Given the description of an element on the screen output the (x, y) to click on. 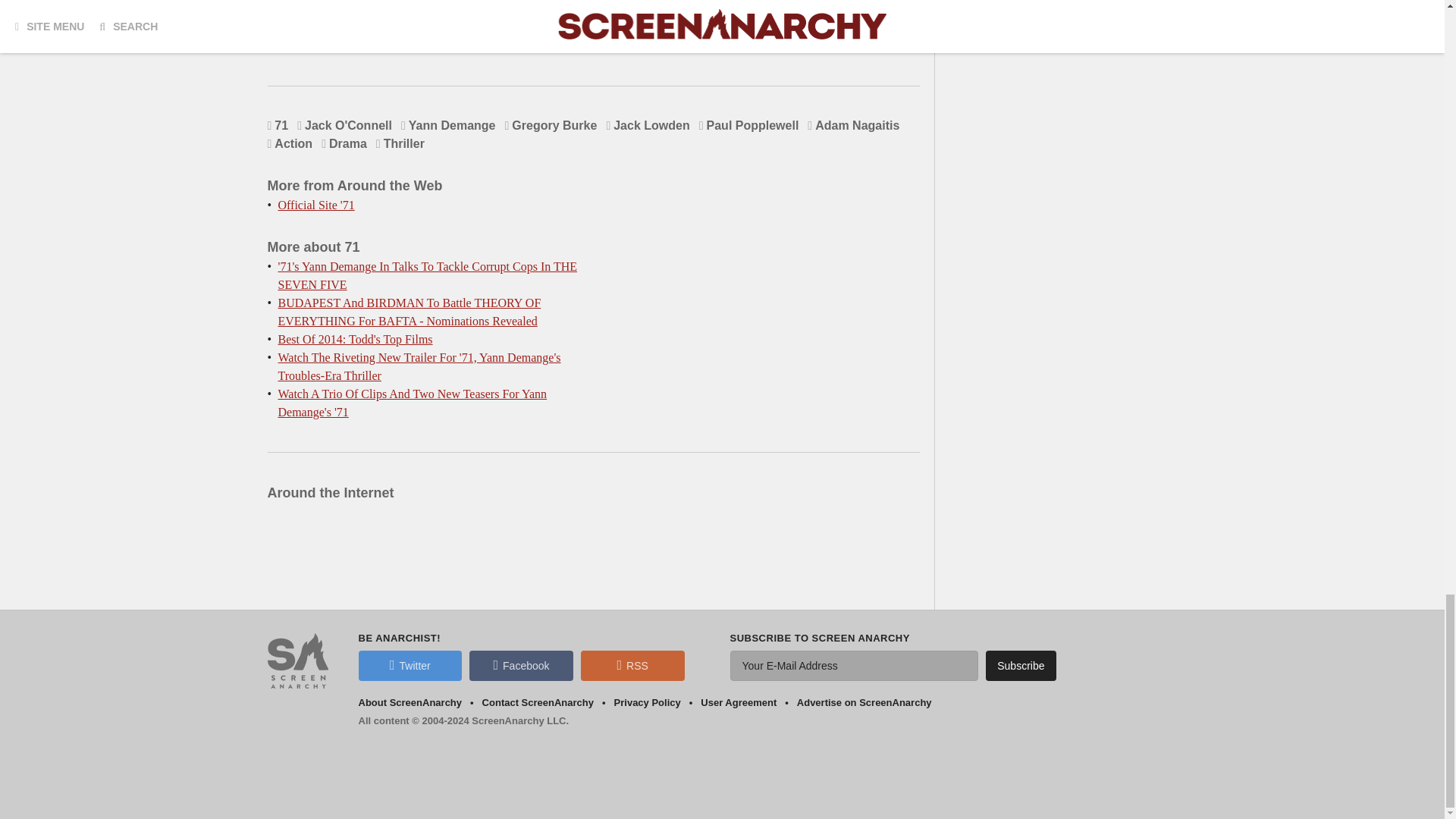
Subscribe (1020, 665)
